Given the description of an element on the screen output the (x, y) to click on. 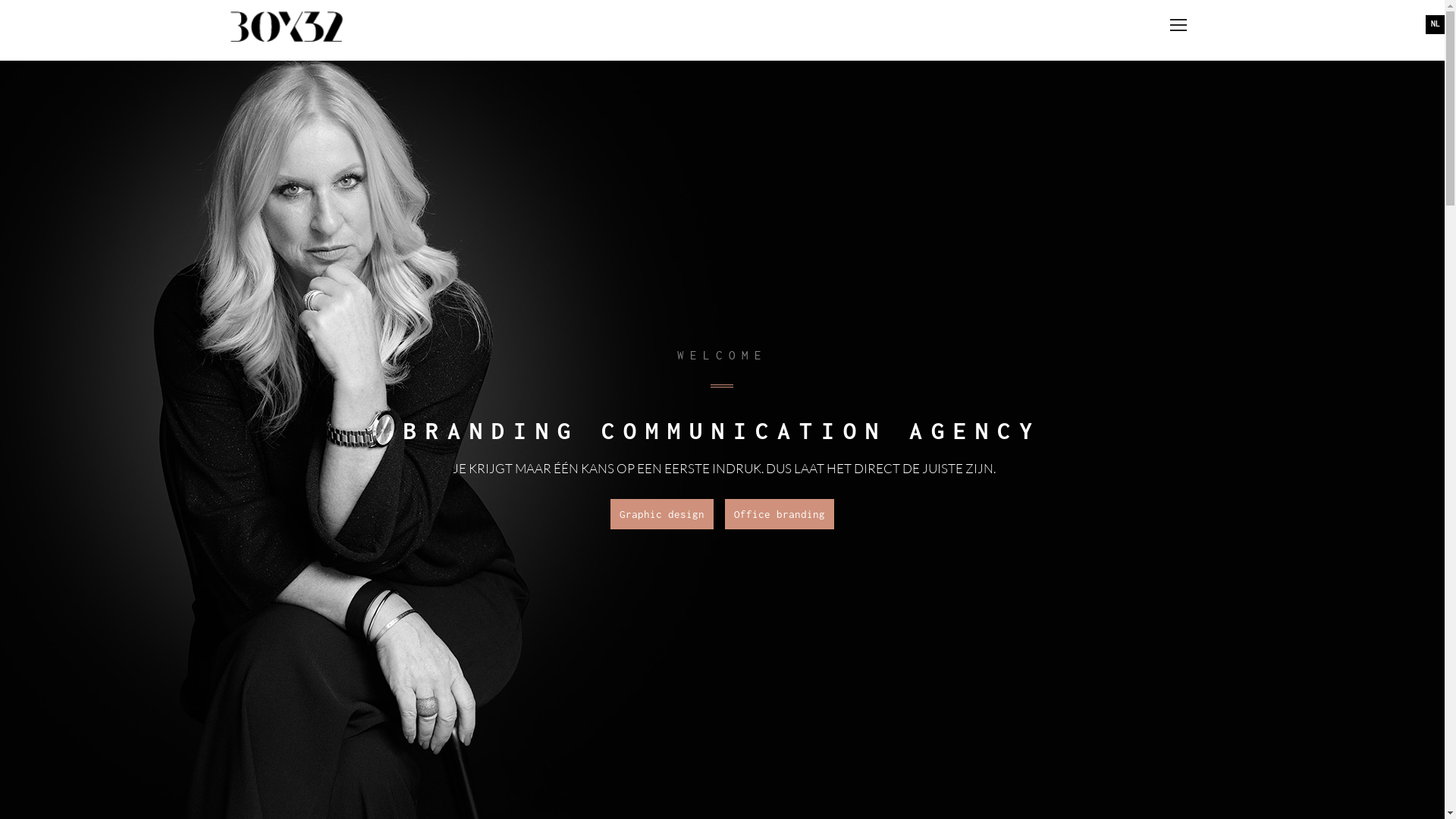
NL Element type: text (1434, 24)
Graphic design Element type: text (660, 513)
Office branding Element type: text (779, 513)
